Given the description of an element on the screen output the (x, y) to click on. 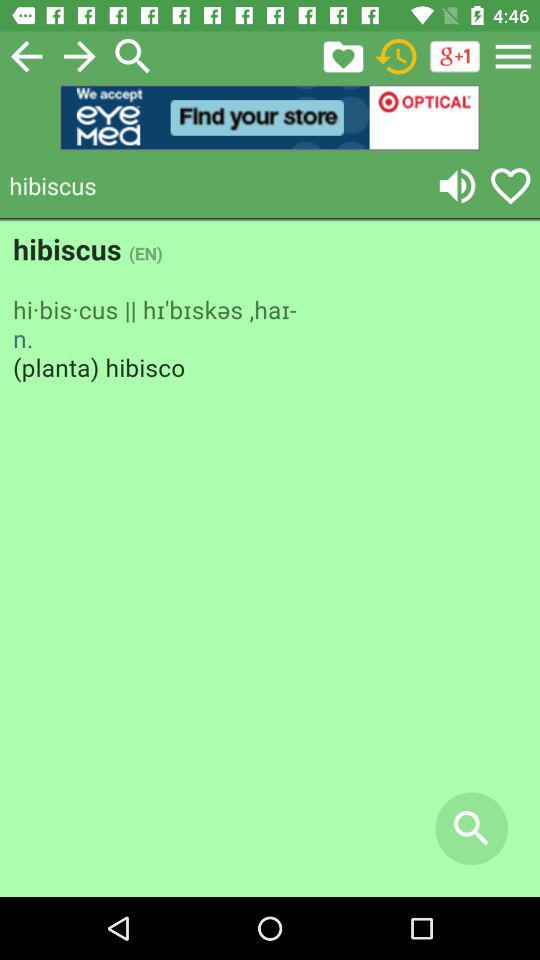
go back (26, 56)
